Given the description of an element on the screen output the (x, y) to click on. 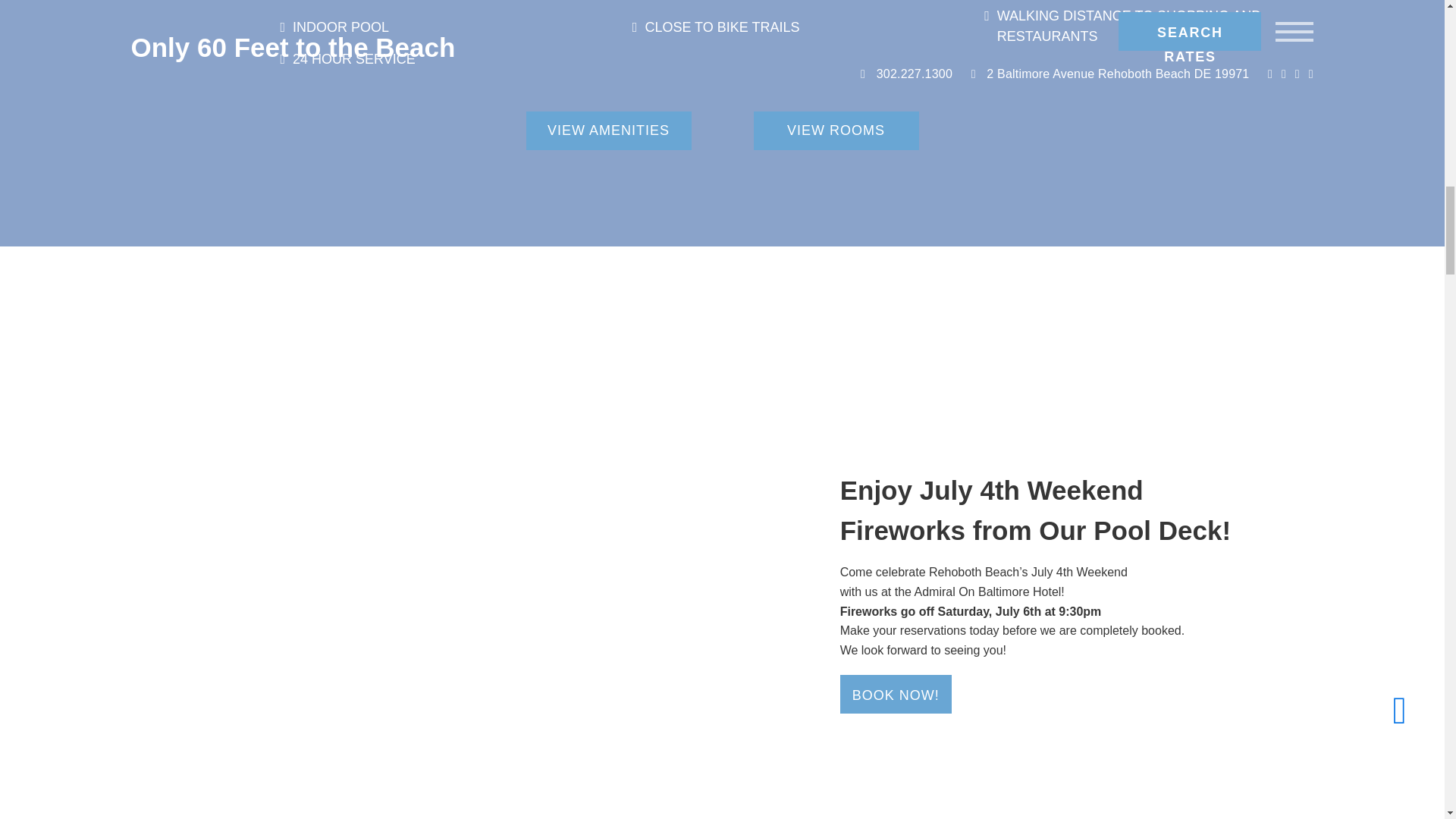
VIEW AMENITIES (608, 130)
VIEW ROOMS (836, 130)
BOOK NOW! (896, 693)
